Given the description of an element on the screen output the (x, y) to click on. 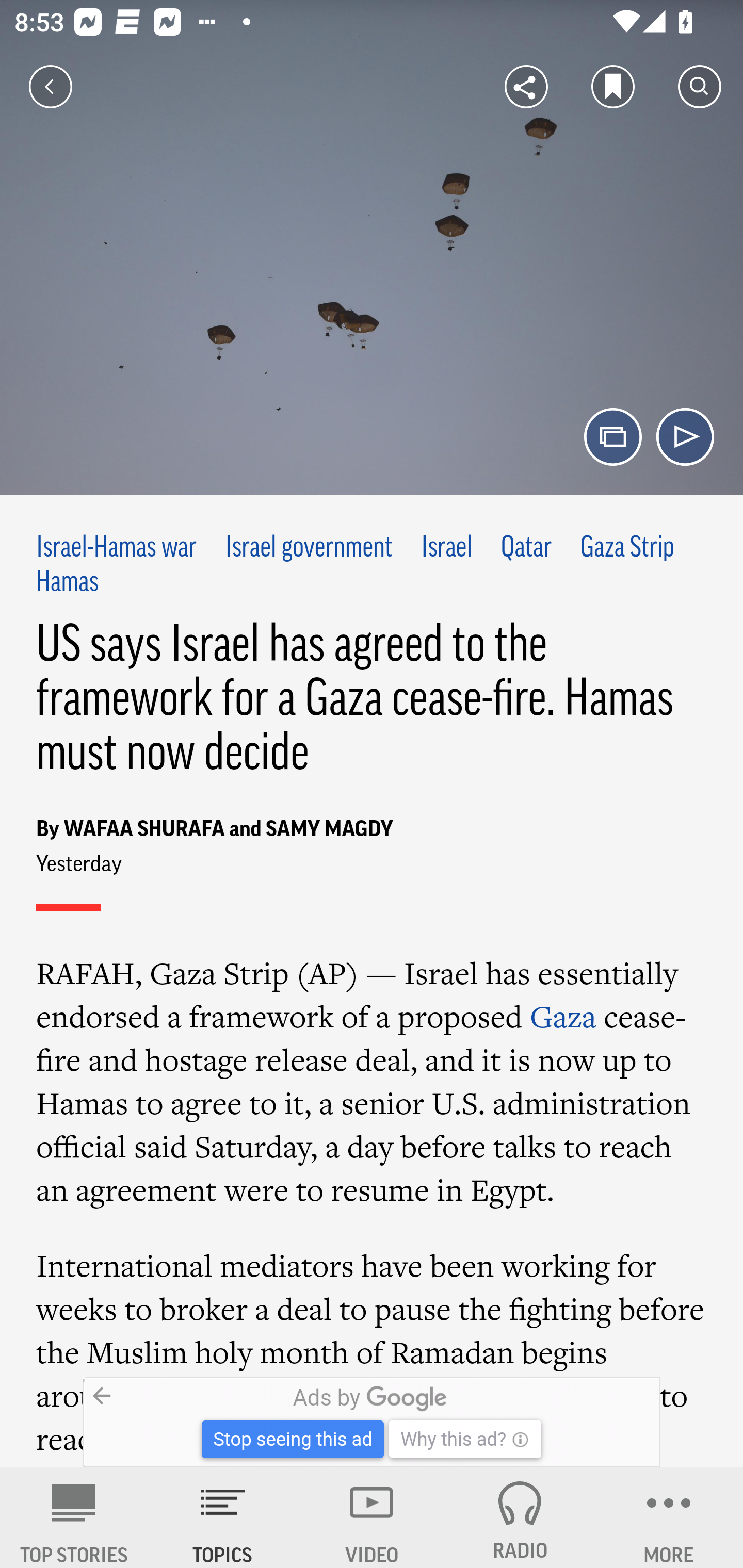
Israel-Hamas war (117, 548)
Israel government (308, 548)
Israel (446, 548)
Qatar (526, 548)
Gaza Strip (627, 548)
Hamas (67, 582)
Gaza (563, 1016)
AP News TOP STORIES (74, 1517)
TOPICS (222, 1517)
VIDEO (371, 1517)
RADIO (519, 1517)
MORE (668, 1517)
